Given the description of an element on the screen output the (x, y) to click on. 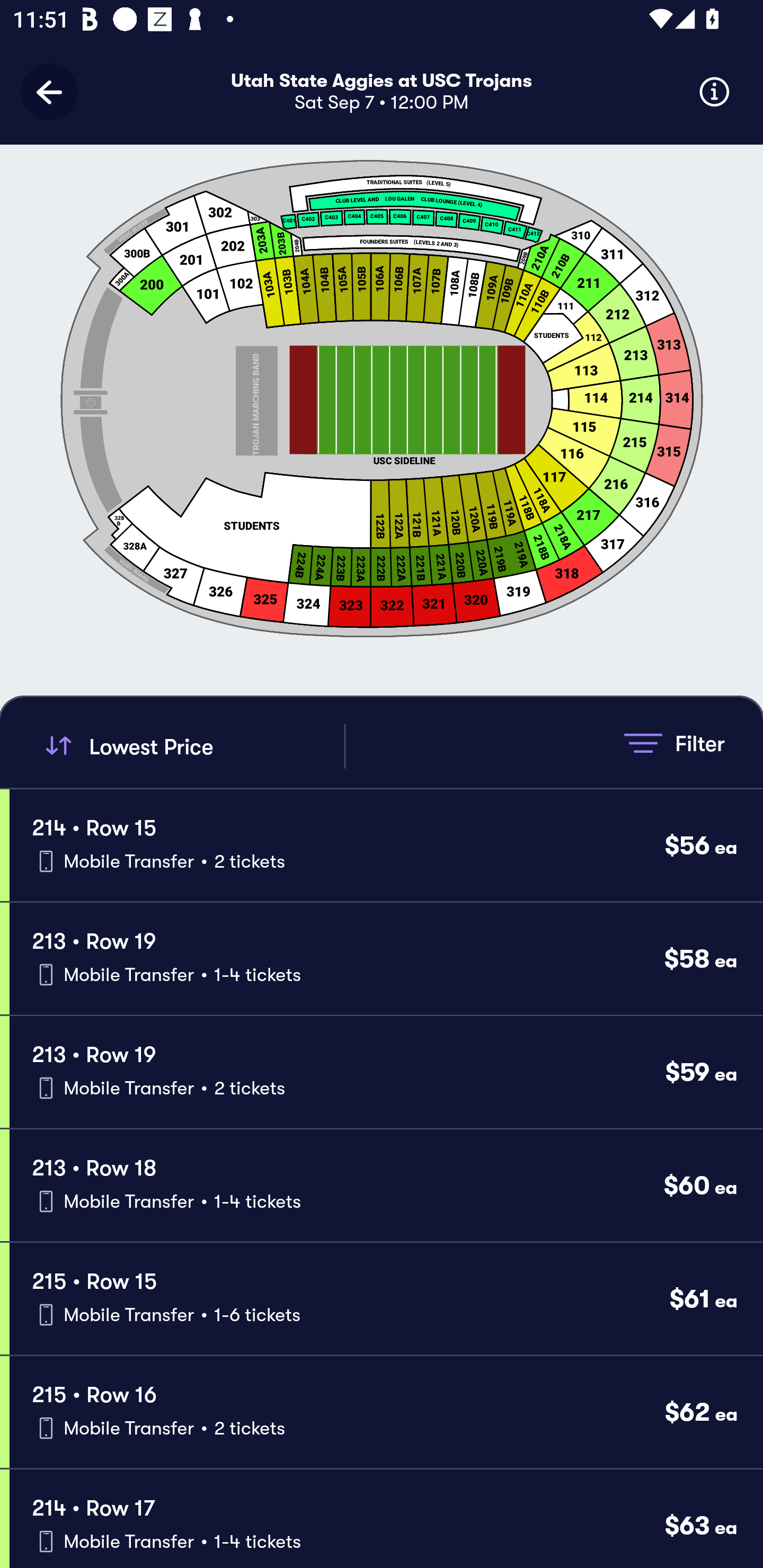
Lowest Price (191, 746)
Filter (674, 743)
214 • Row 15 Mobile Transfer • 2 tickets $56 ea (386, 844)
213 • Row 19 Mobile Transfer • 1-4 tickets $58 ea (386, 958)
213 • Row 19 Mobile Transfer • 2 tickets $59 ea (386, 1071)
213 • Row 18 Mobile Transfer • 1-4 tickets $60 ea (386, 1184)
215 • Row 15 Mobile Transfer • 1-6 tickets $61 ea (386, 1298)
215 • Row 16 Mobile Transfer • 2 tickets $62 ea (386, 1411)
214 • Row 17 Mobile Transfer • 1-4 tickets $63 ea (386, 1518)
